Given the description of an element on the screen output the (x, y) to click on. 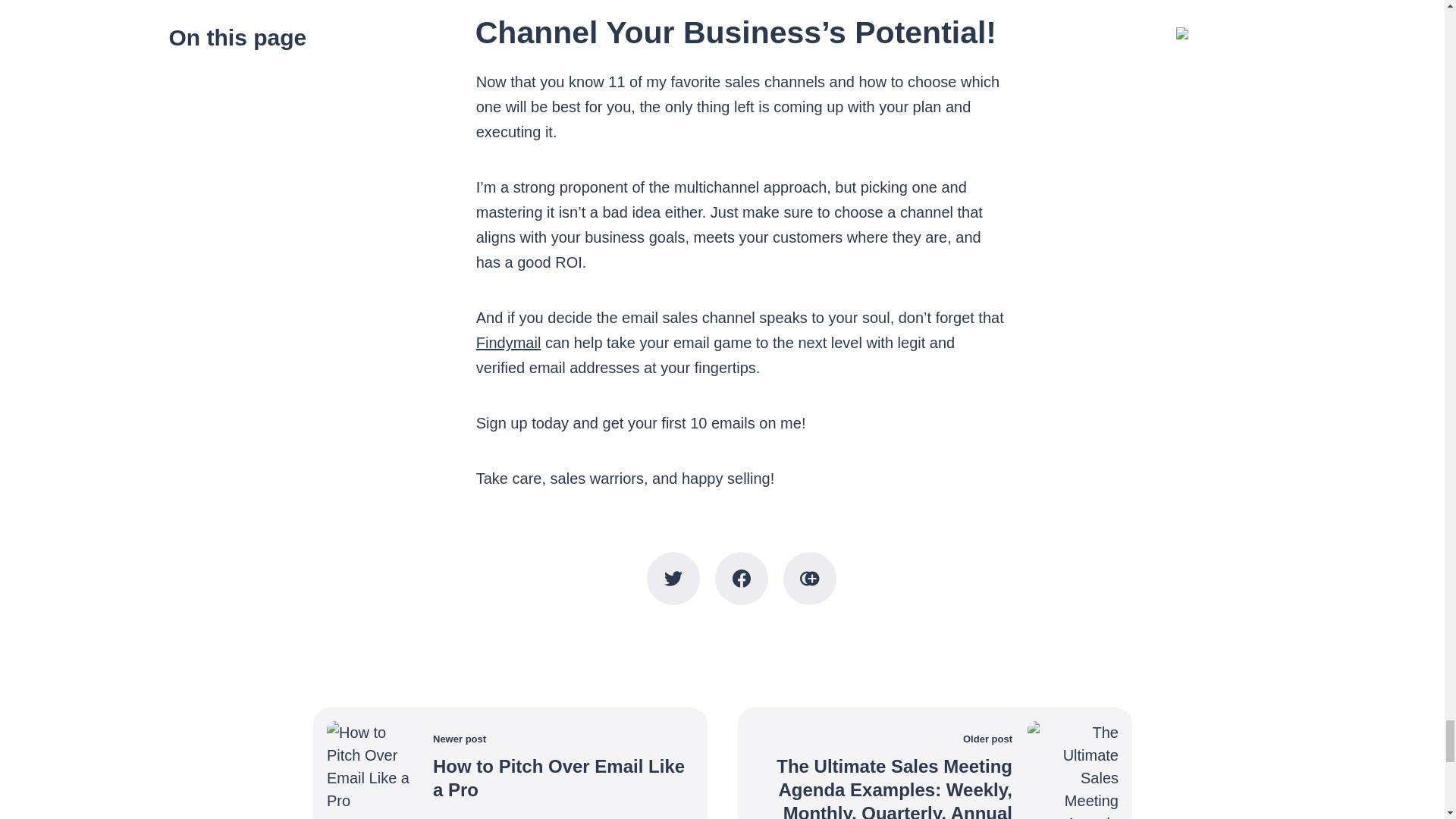
How to Pitch Over Email Like a Pro (558, 777)
Findymail (508, 342)
